Given the description of an element on the screen output the (x, y) to click on. 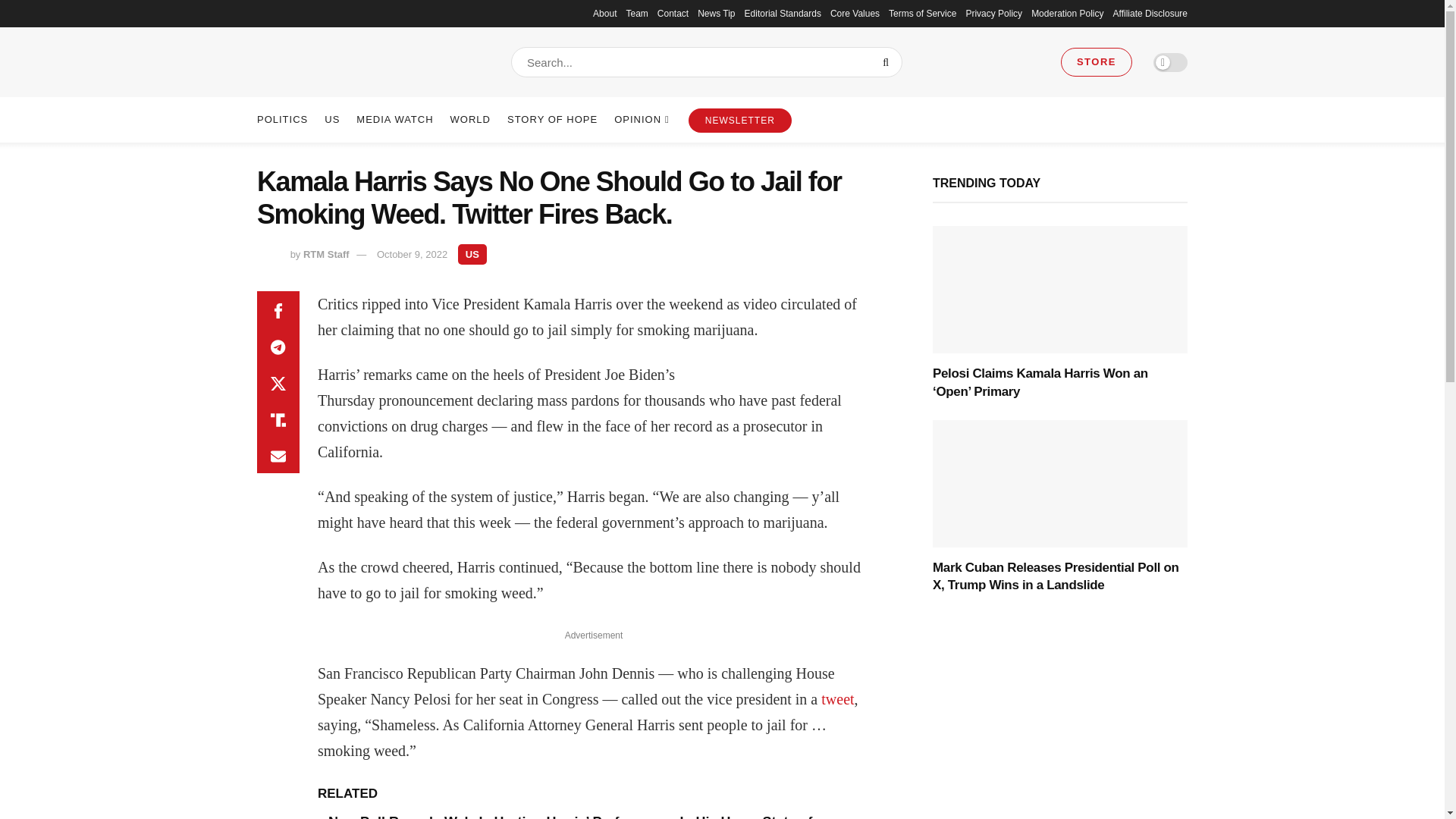
Moderation Policy (1066, 13)
POLITICS (282, 119)
RTM Staff (325, 254)
NEWSLETTER (740, 120)
Affiliate Disclosure (1150, 13)
Privacy Policy (993, 13)
STORY OF HOPE (551, 119)
US (472, 254)
MEDIA WATCH (394, 119)
News Tip (716, 13)
